Given the description of an element on the screen output the (x, y) to click on. 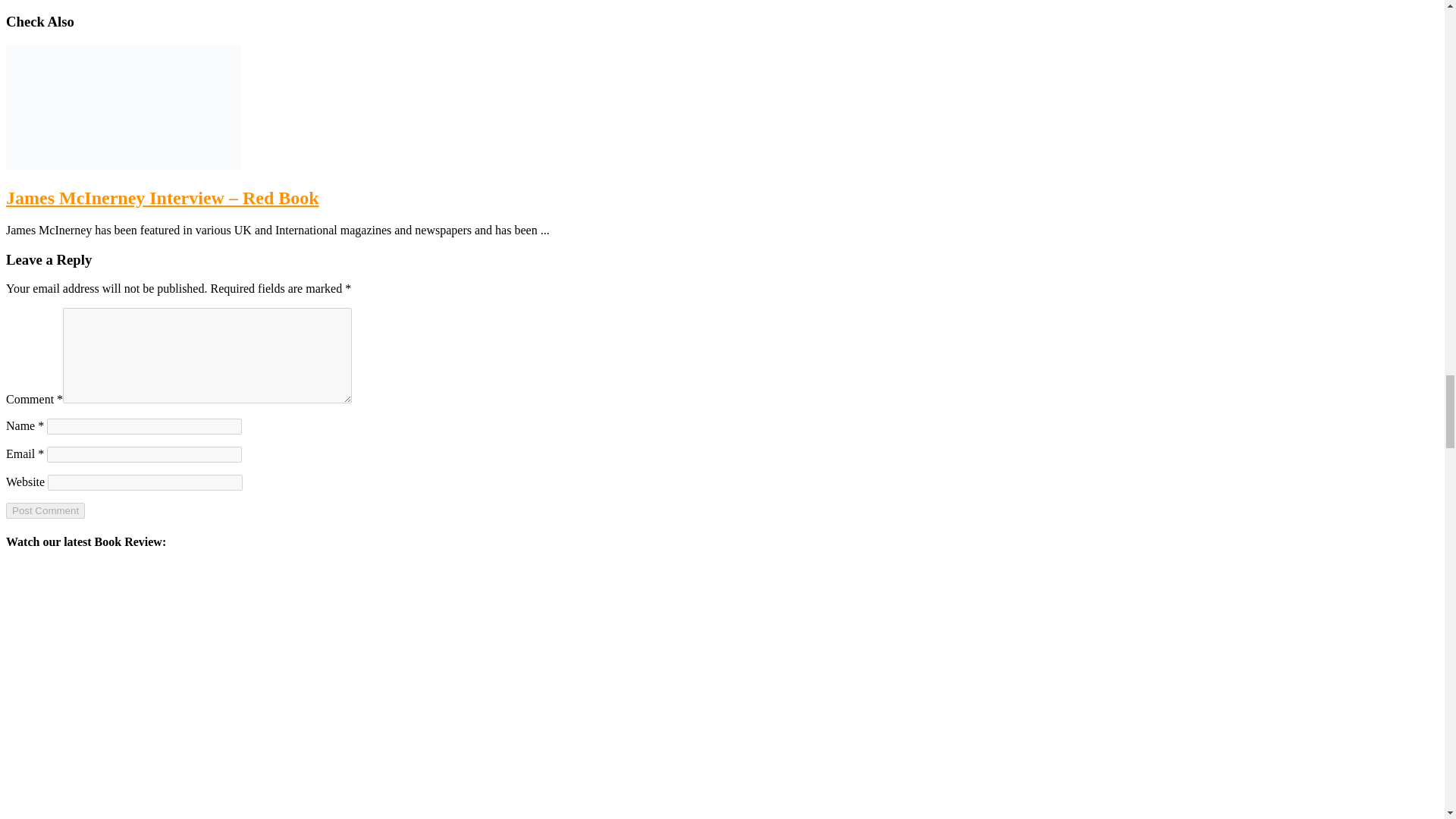
Post Comment (44, 510)
